Given the description of an element on the screen output the (x, y) to click on. 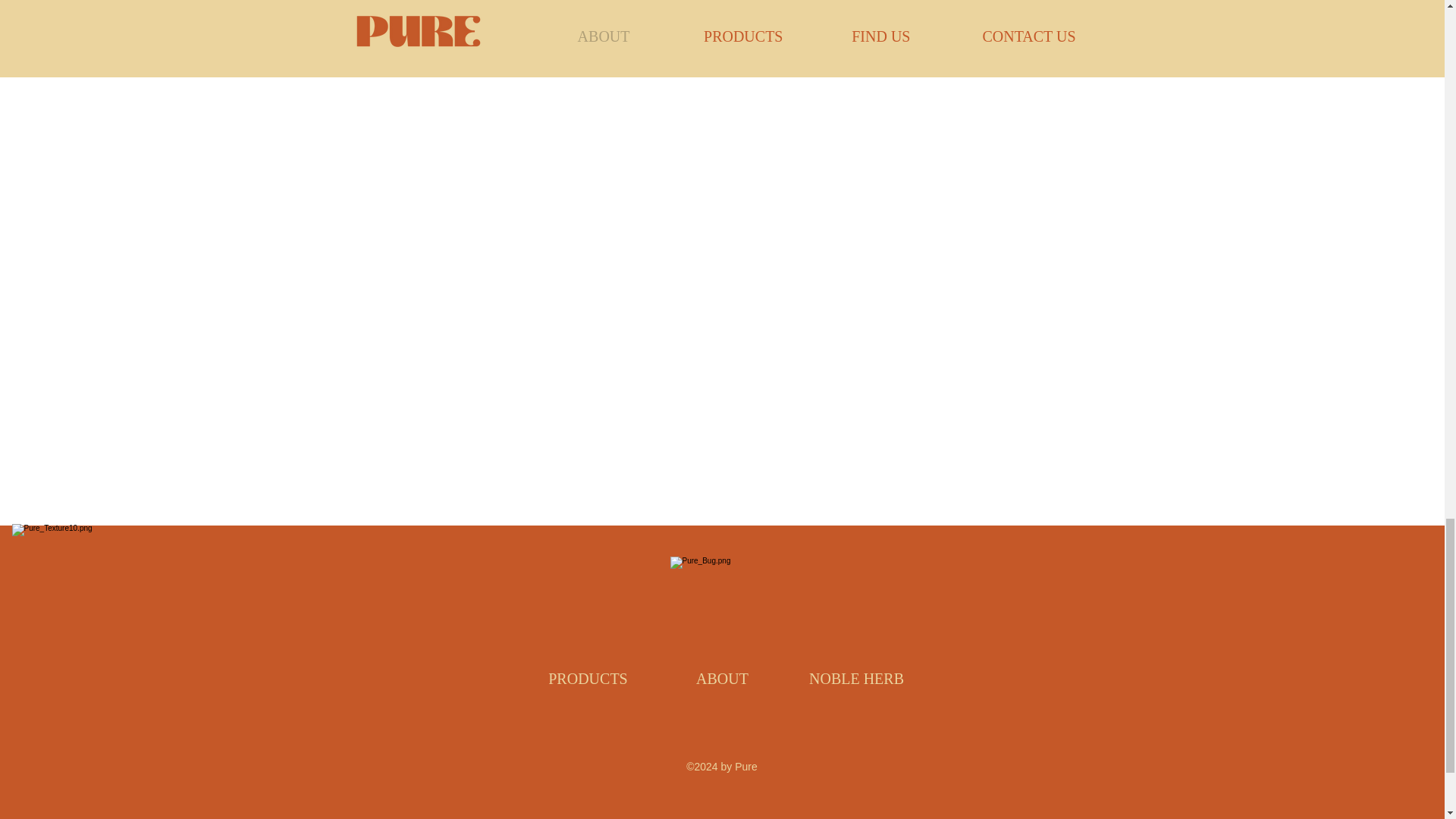
NOBLE HERB (856, 678)
ABOUT (721, 678)
PRODUCTS (587, 678)
